Given the description of an element on the screen output the (x, y) to click on. 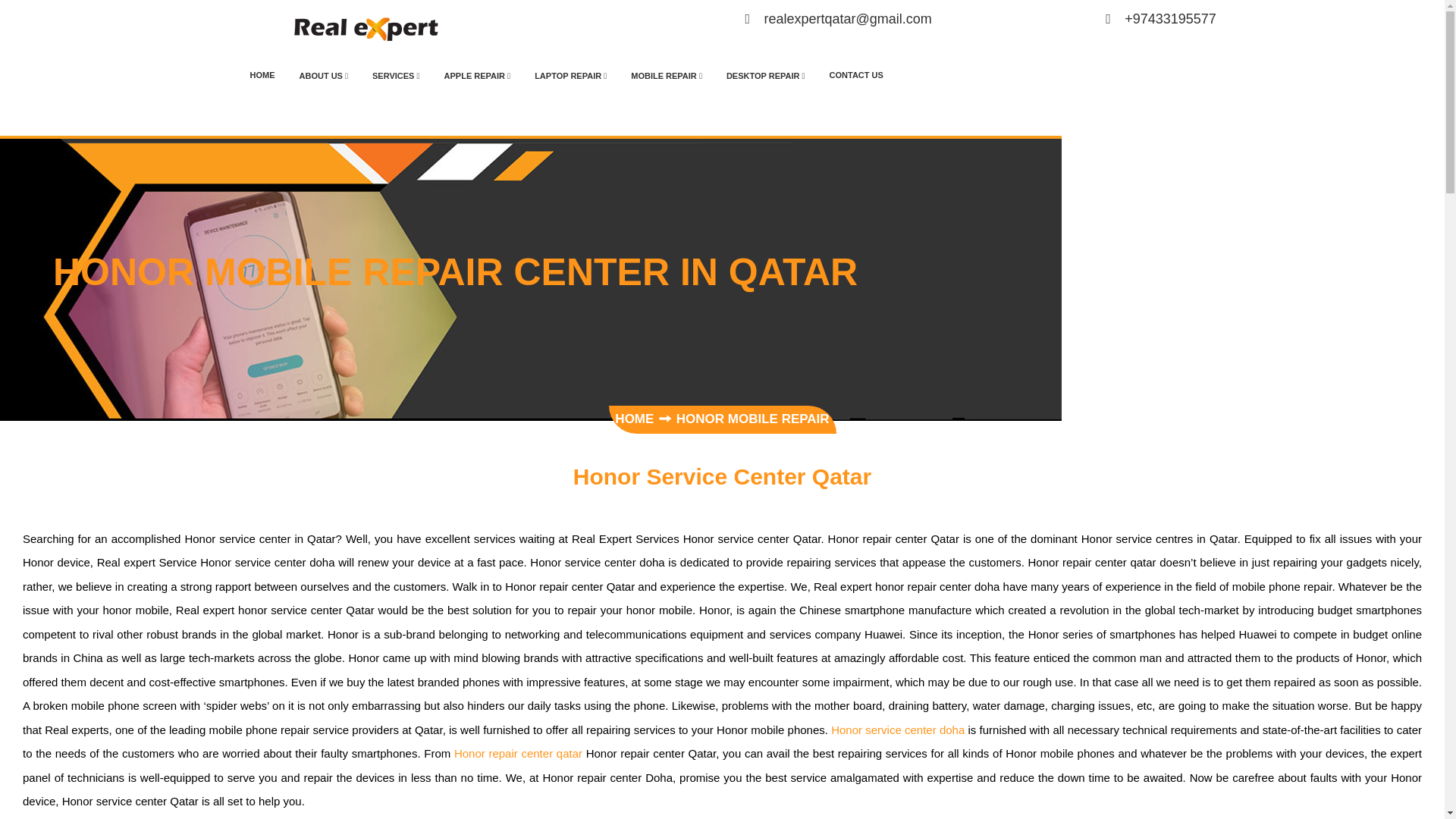
APPLE REPAIR (477, 75)
HOME (262, 74)
MOBILE REPAIR (666, 75)
honor repair center qatar (897, 729)
LAPTOP REPAIR (570, 75)
ABOUT US (322, 75)
SERVICES (395, 75)
honor service center Doha (365, 26)
honor repair center doha (518, 753)
